Given the description of an element on the screen output the (x, y) to click on. 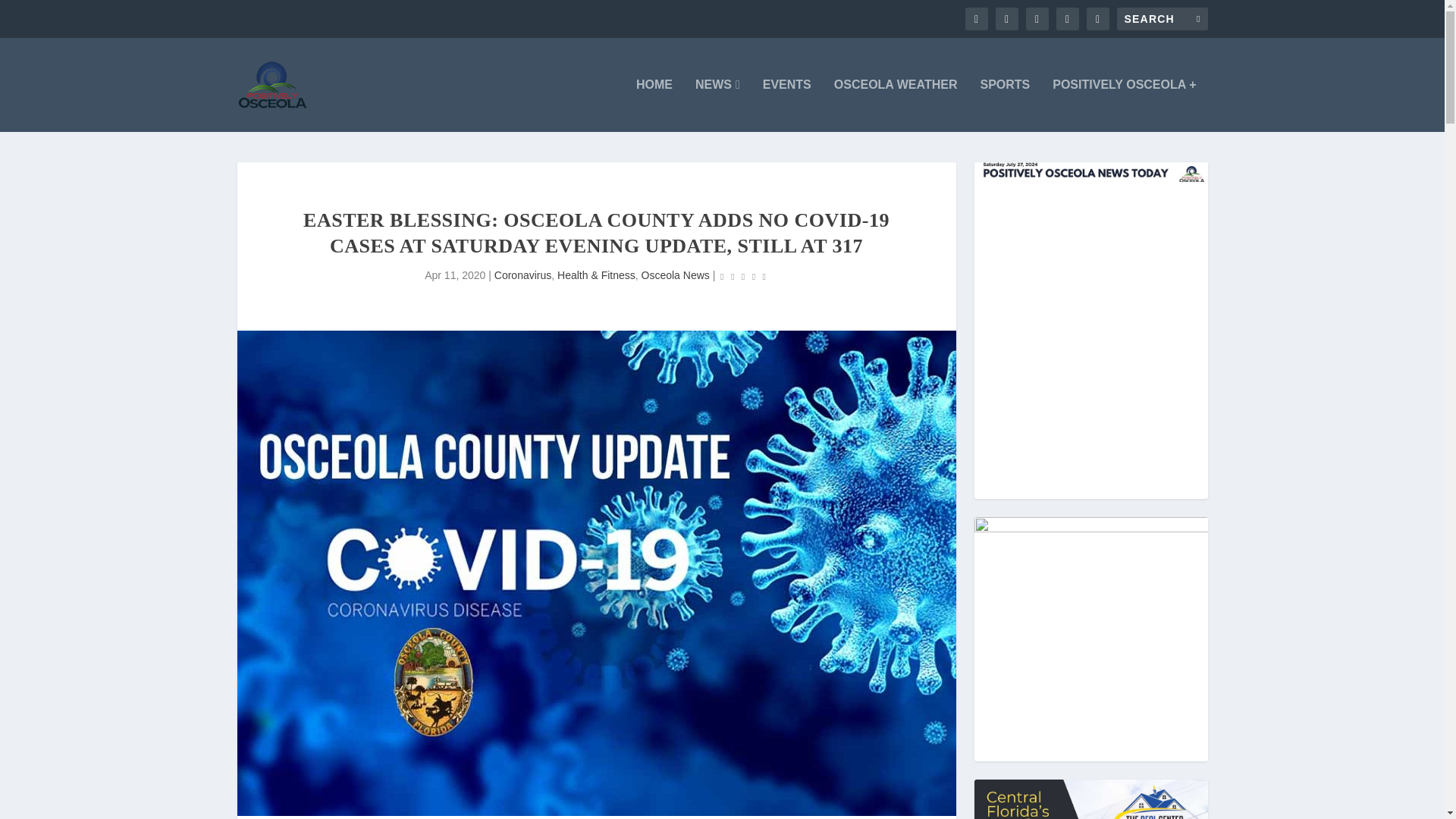
EVENTS (786, 104)
OSCEOLA WEATHER (896, 104)
Search for: (1161, 18)
SPORTS (1004, 104)
Coronavirus (523, 275)
Osceola News (676, 275)
Rating: 4.50 (742, 275)
NEWS (717, 104)
HOME (654, 104)
